Given the description of an element on the screen output the (x, y) to click on. 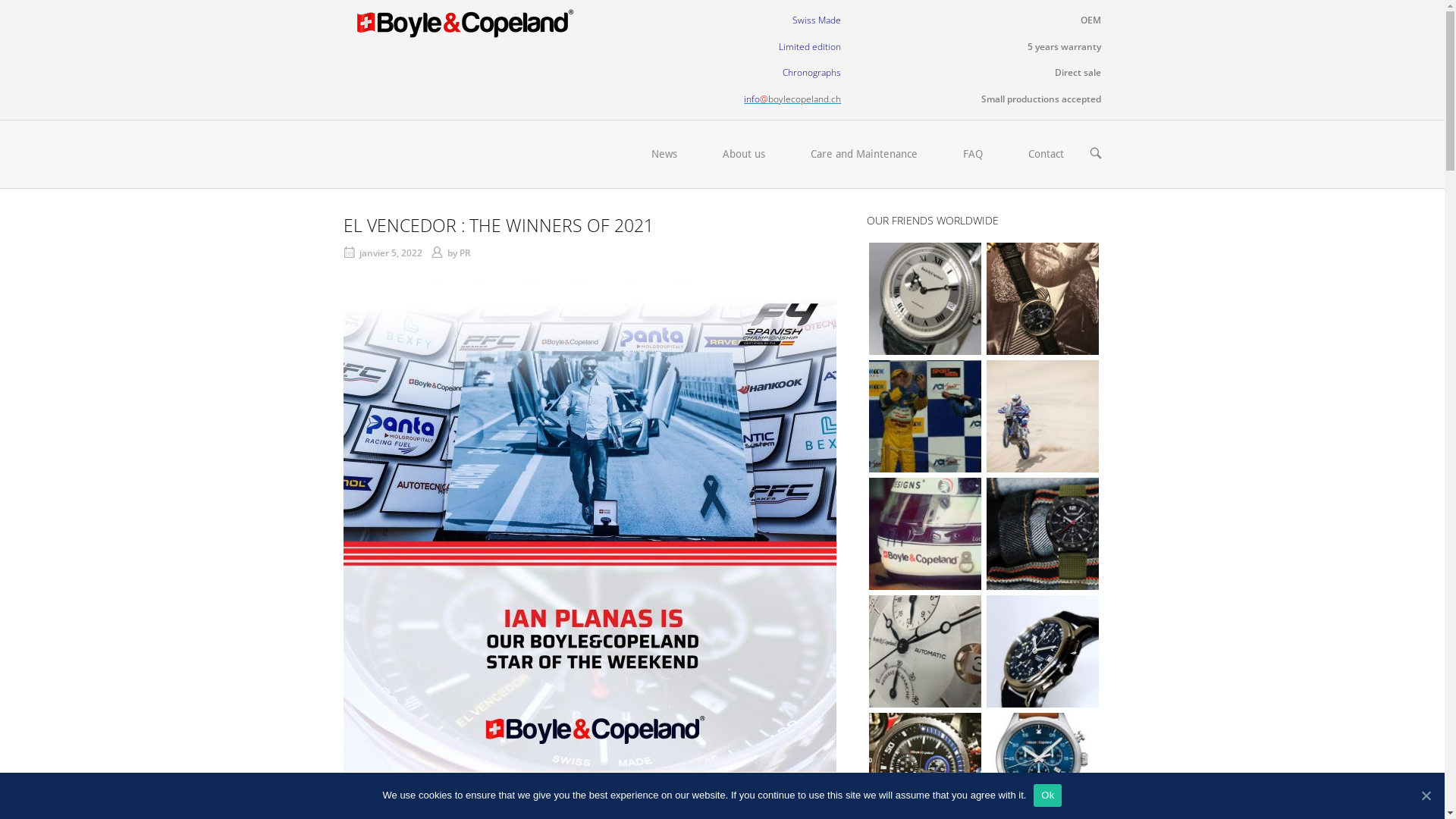
Ok Element type: text (1047, 795)
FAQ Element type: text (972, 154)
About us Element type: text (743, 154)
Skip to content Element type: text (0, 0)
info@boylecopeland.ch Element type: text (791, 98)
News Element type: text (663, 154)
PR Element type: text (464, 252)
janvier 5, 2022 Element type: text (390, 252)
OPEN SEARCH BAR Element type: text (1094, 154)
Care and Maintenance Element type: text (863, 154)
Contact Element type: text (1045, 154)
